Given the description of an element on the screen output the (x, y) to click on. 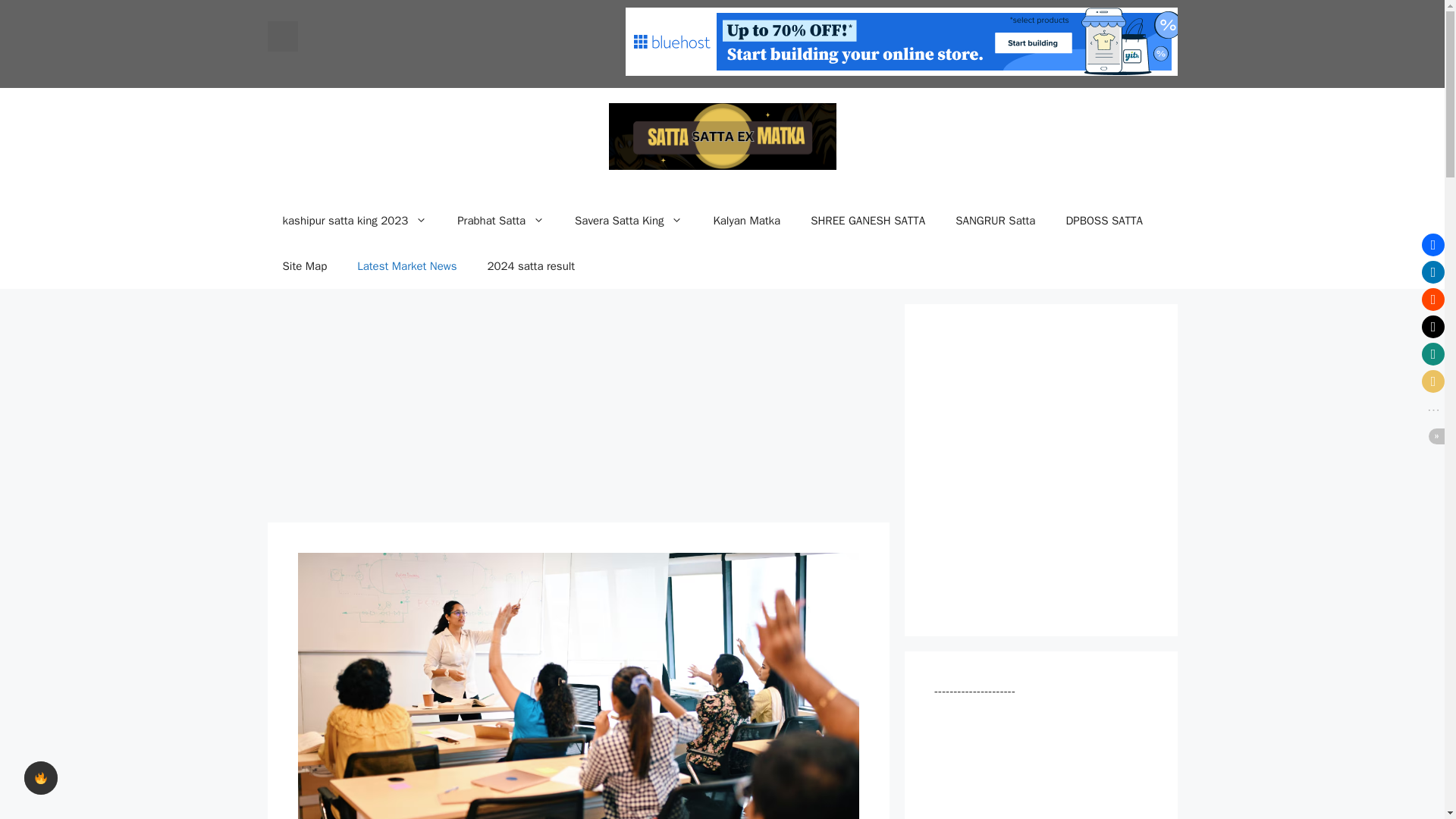
2024 satta result (530, 266)
Latest Market News (406, 266)
Kalyan Matka (745, 220)
Prabhat Satta (500, 220)
Site Map (304, 266)
kashipur satta king 2023 (354, 220)
SANGRUR Satta (994, 220)
Savera Satta King (628, 220)
Advertisement (577, 409)
DPBOSS SATTA (1103, 220)
SHREE GANESH SATTA (867, 220)
